Given the description of an element on the screen output the (x, y) to click on. 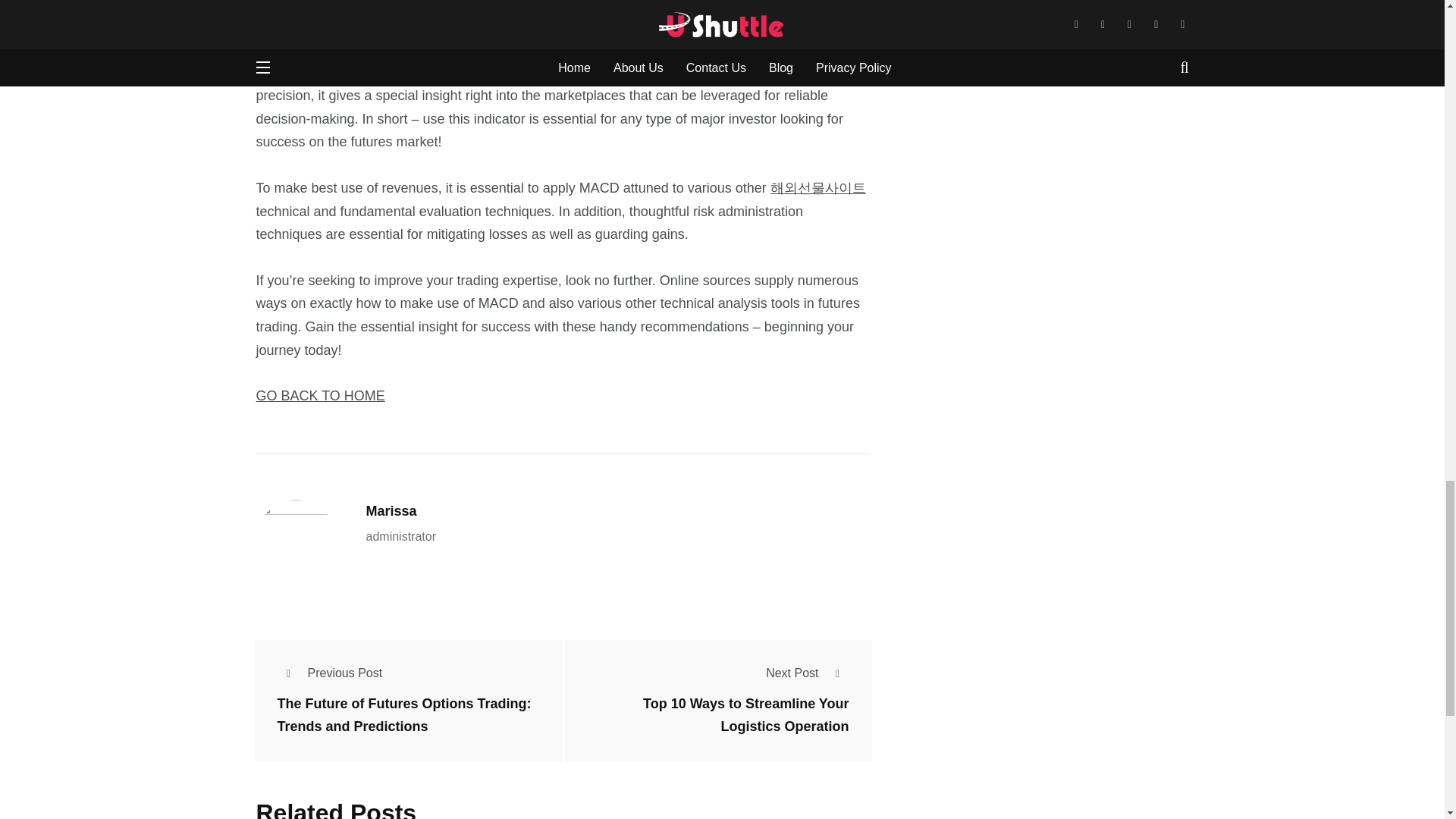
Top 10 Ways to Streamline Your Logistics Operation (745, 715)
Next Post (806, 672)
Posts by Marissa (390, 510)
GO BACK TO HOME (320, 395)
Previous Post (330, 672)
Marissa (390, 510)
